Given the description of an element on the screen output the (x, y) to click on. 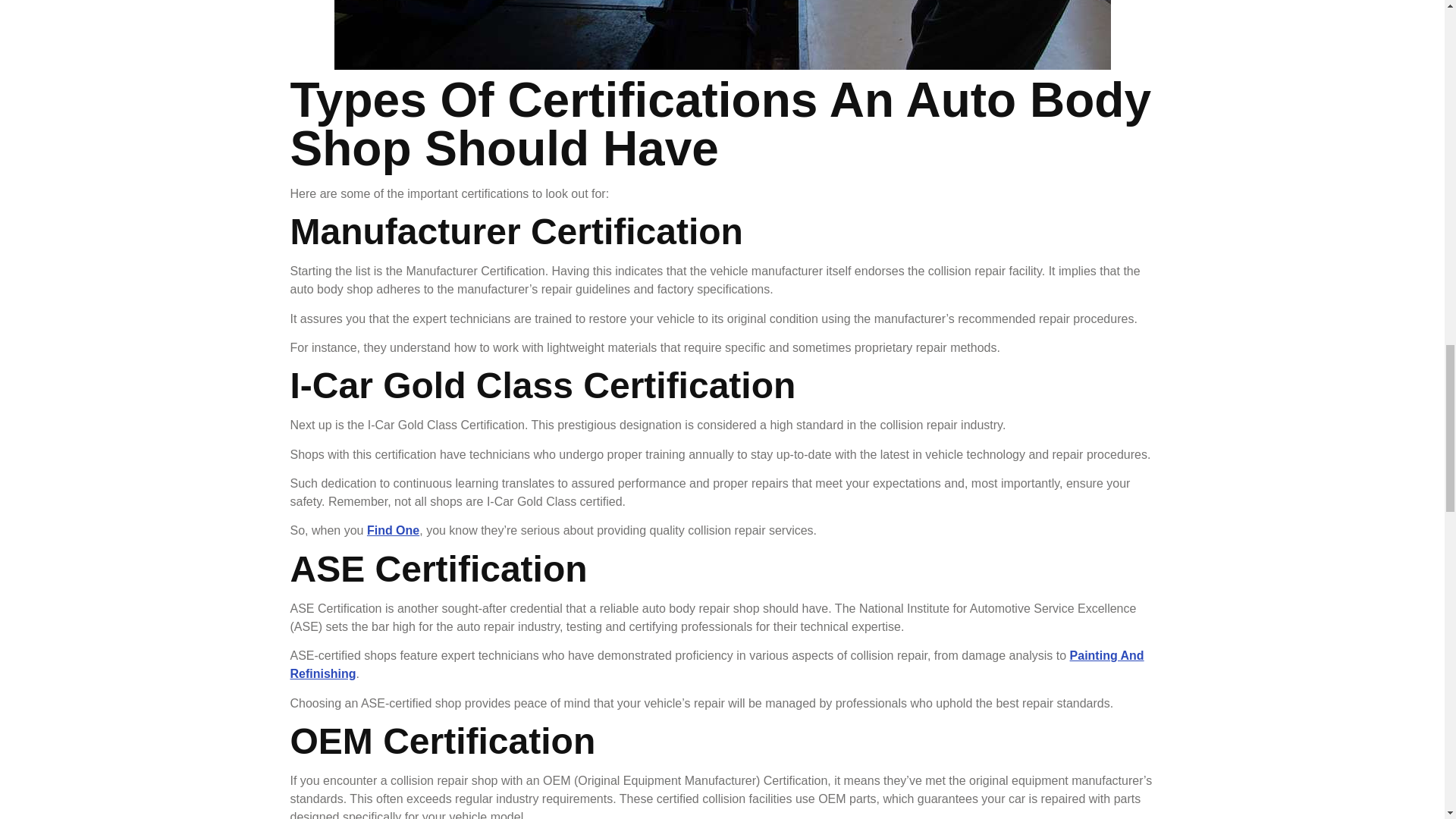
Painting And Refinishing (715, 664)
Find One (392, 530)
